Given the description of an element on the screen output the (x, y) to click on. 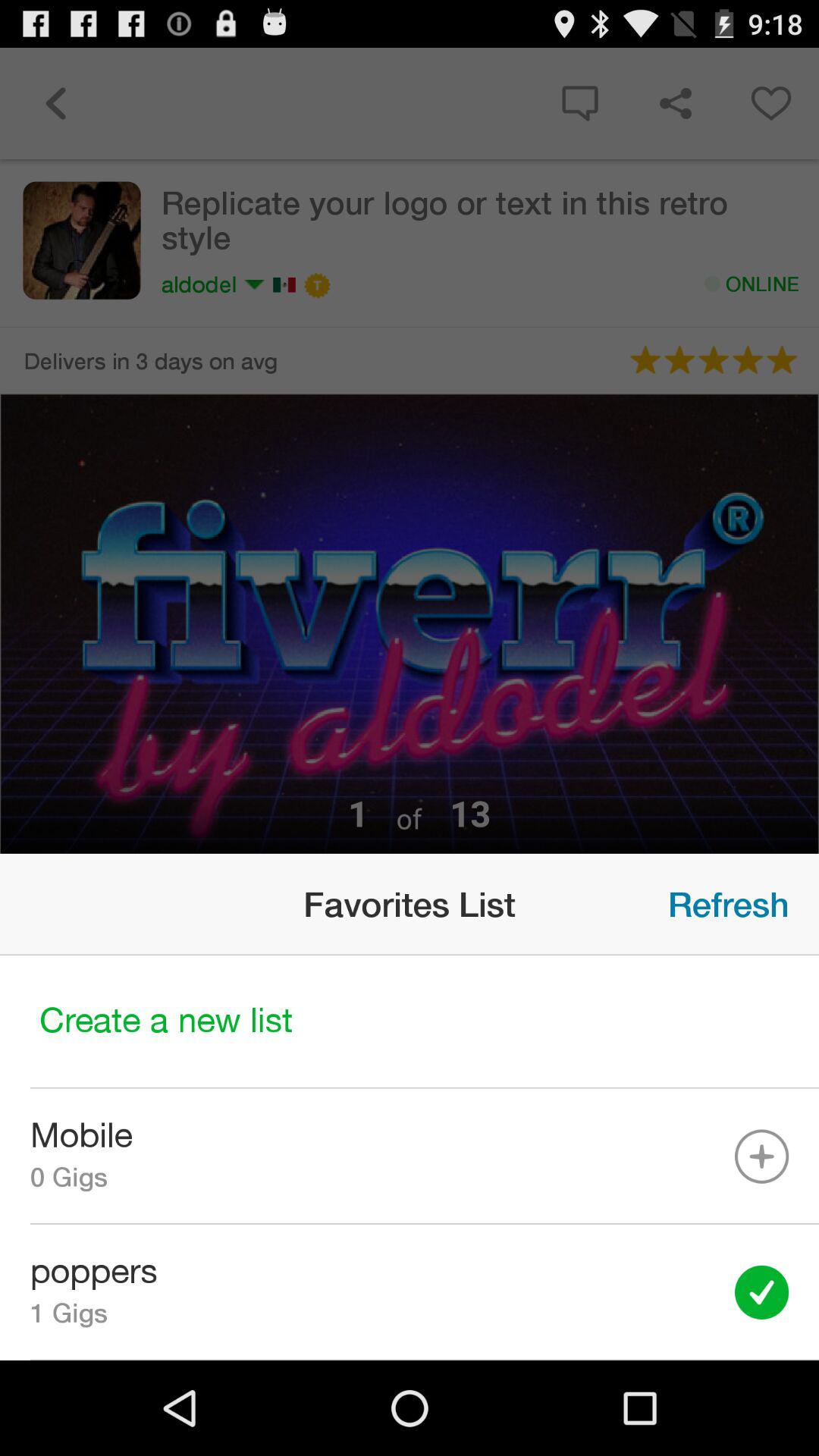
open the icon next to favorites list item (728, 903)
